Given the description of an element on the screen output the (x, y) to click on. 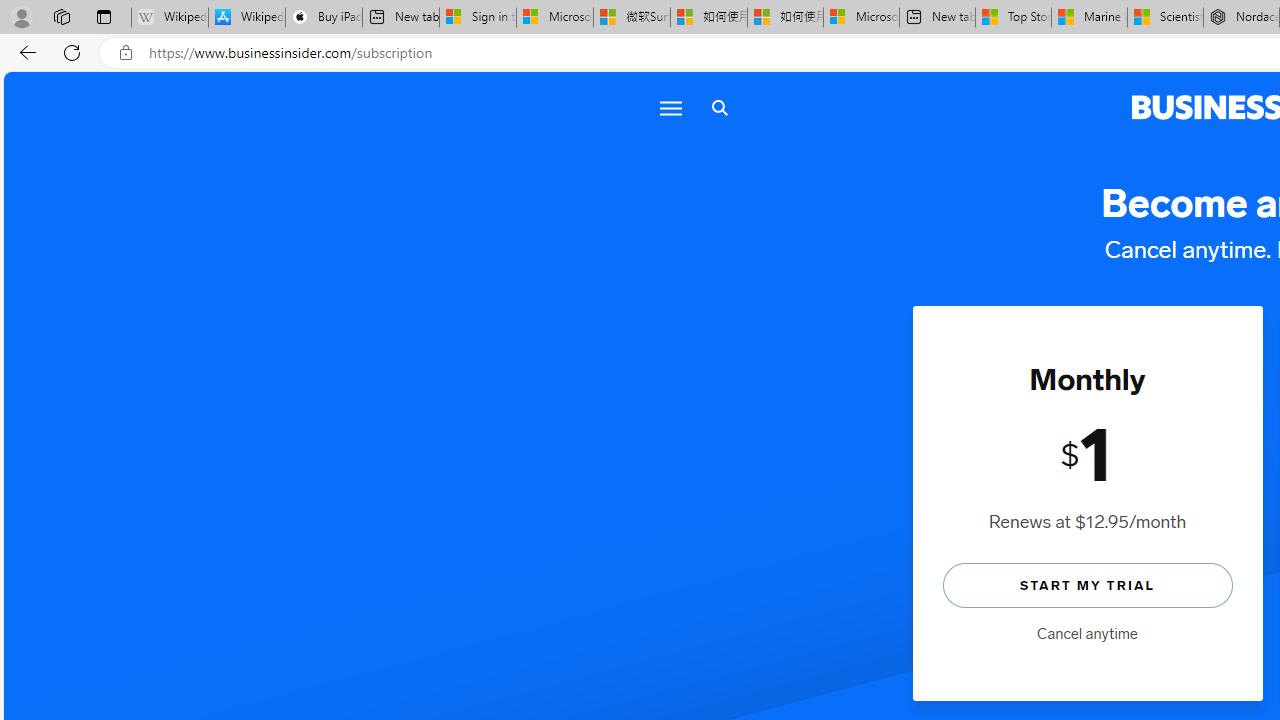
Top Stories - MSN (1012, 17)
Buy iPad - Apple (323, 17)
Go to the search page. (719, 107)
START MY TRIAL (1087, 584)
Menu icon (670, 107)
Marine life - MSN (1089, 17)
